Given the description of an element on the screen output the (x, y) to click on. 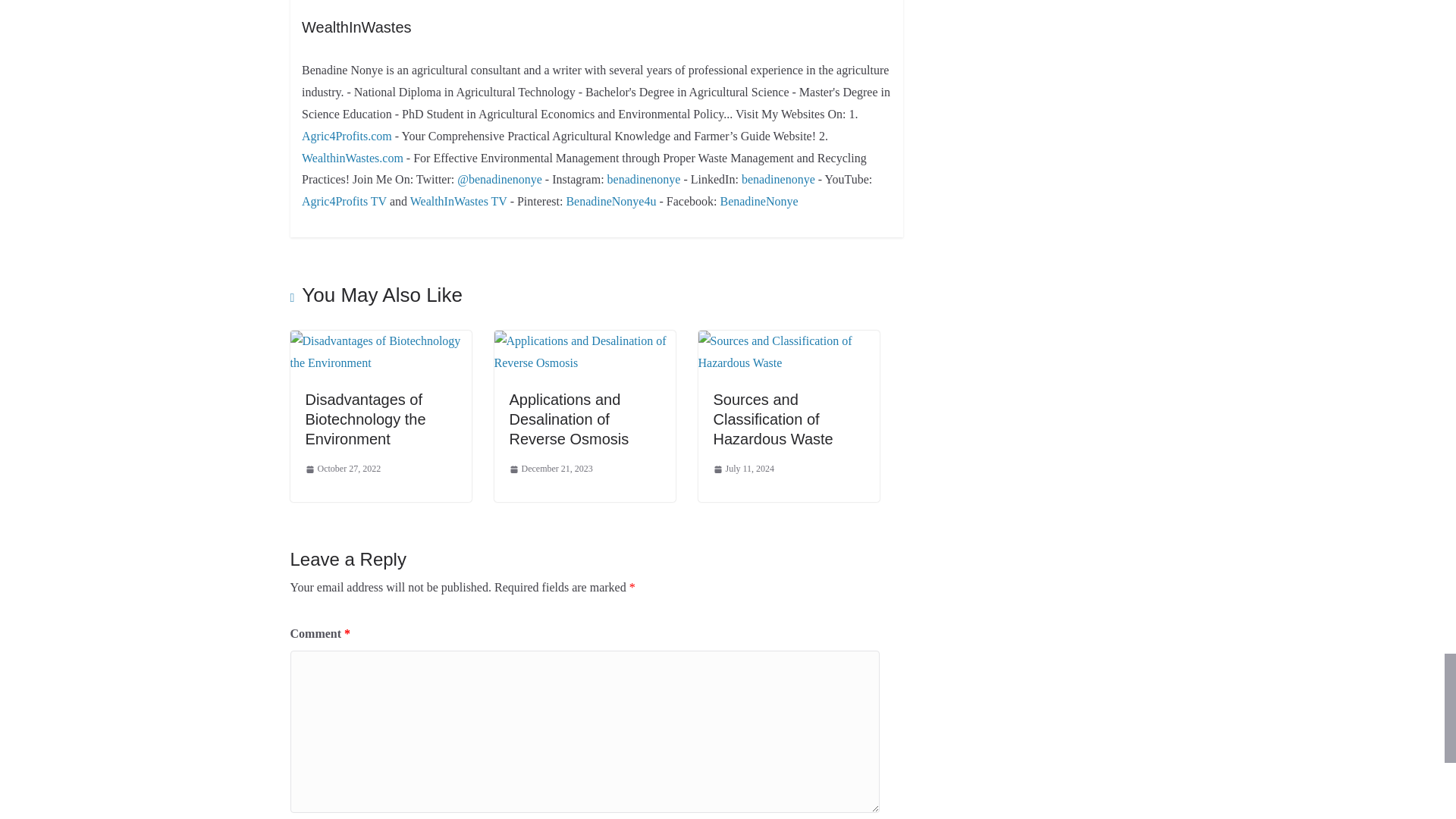
Disadvantages of Biotechnology the Environment 5 (379, 352)
WealthinWastes.com (352, 157)
Agric4Profits.com (346, 135)
Disadvantages of Biotechnology the Environment (379, 340)
